Given the description of an element on the screen output the (x, y) to click on. 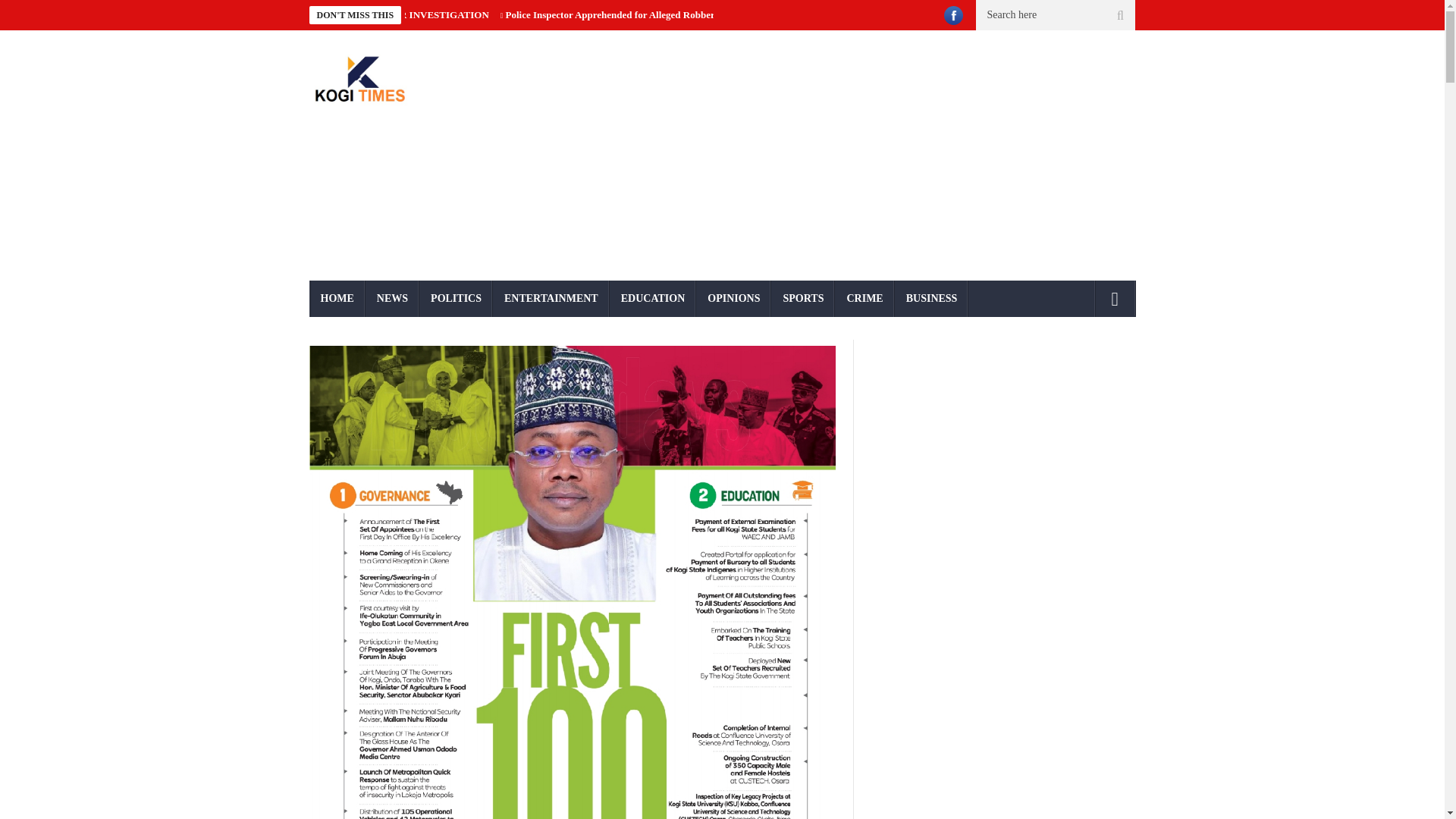
EDUCATION (653, 298)
BUSINESS (932, 298)
POLITICS (456, 298)
HOME (336, 298)
Advertisement (863, 155)
SPORTS (802, 298)
NEWS (392, 298)
ENTERTAINMENT (551, 298)
CRIME (863, 298)
OPINIONS (733, 298)
